Given the description of an element on the screen output the (x, y) to click on. 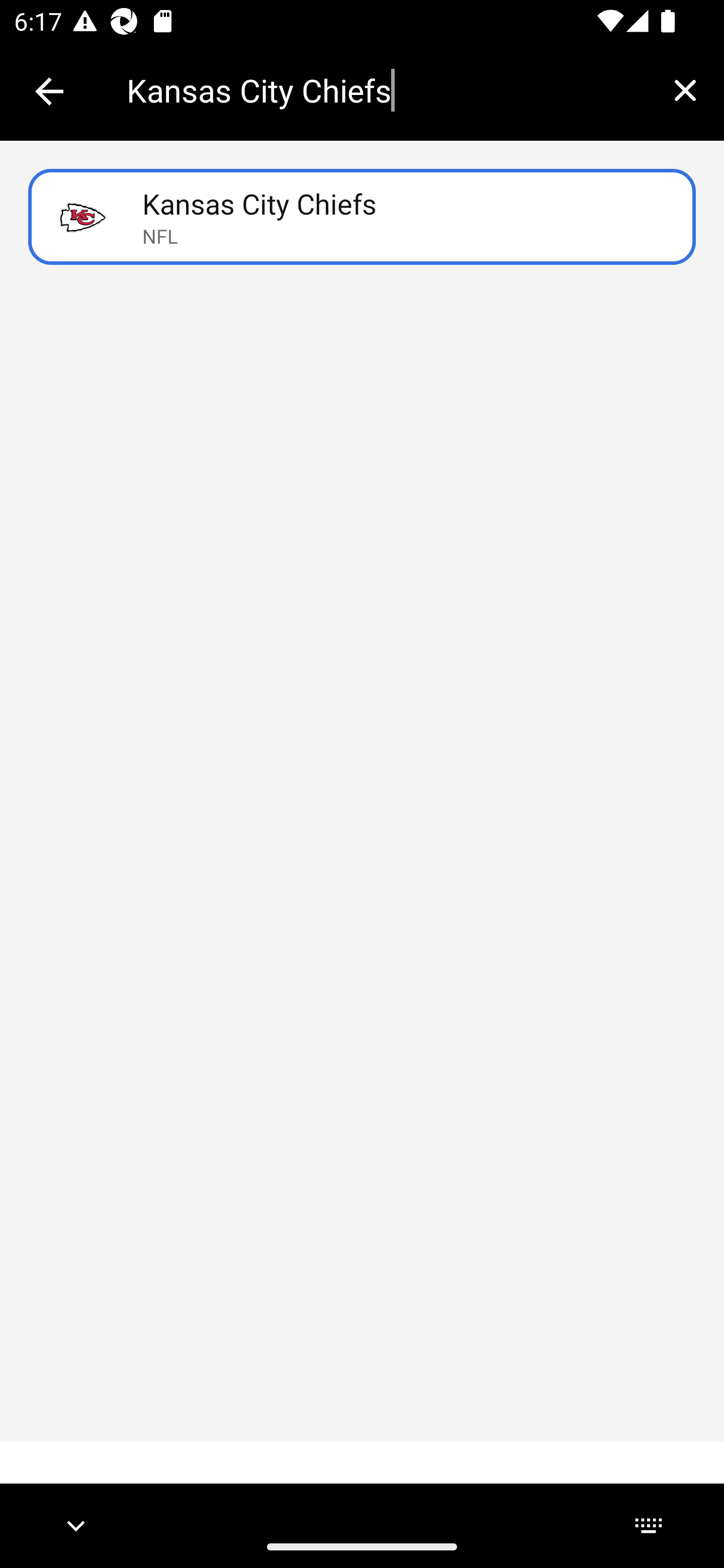
Collapse (49, 91)
Clear query (685, 89)
Kansas City Chiefs (386, 90)
Kansas City Chiefs Kansas City ChiefsSelected NFL (361, 216)
